Given the description of an element on the screen output the (x, y) to click on. 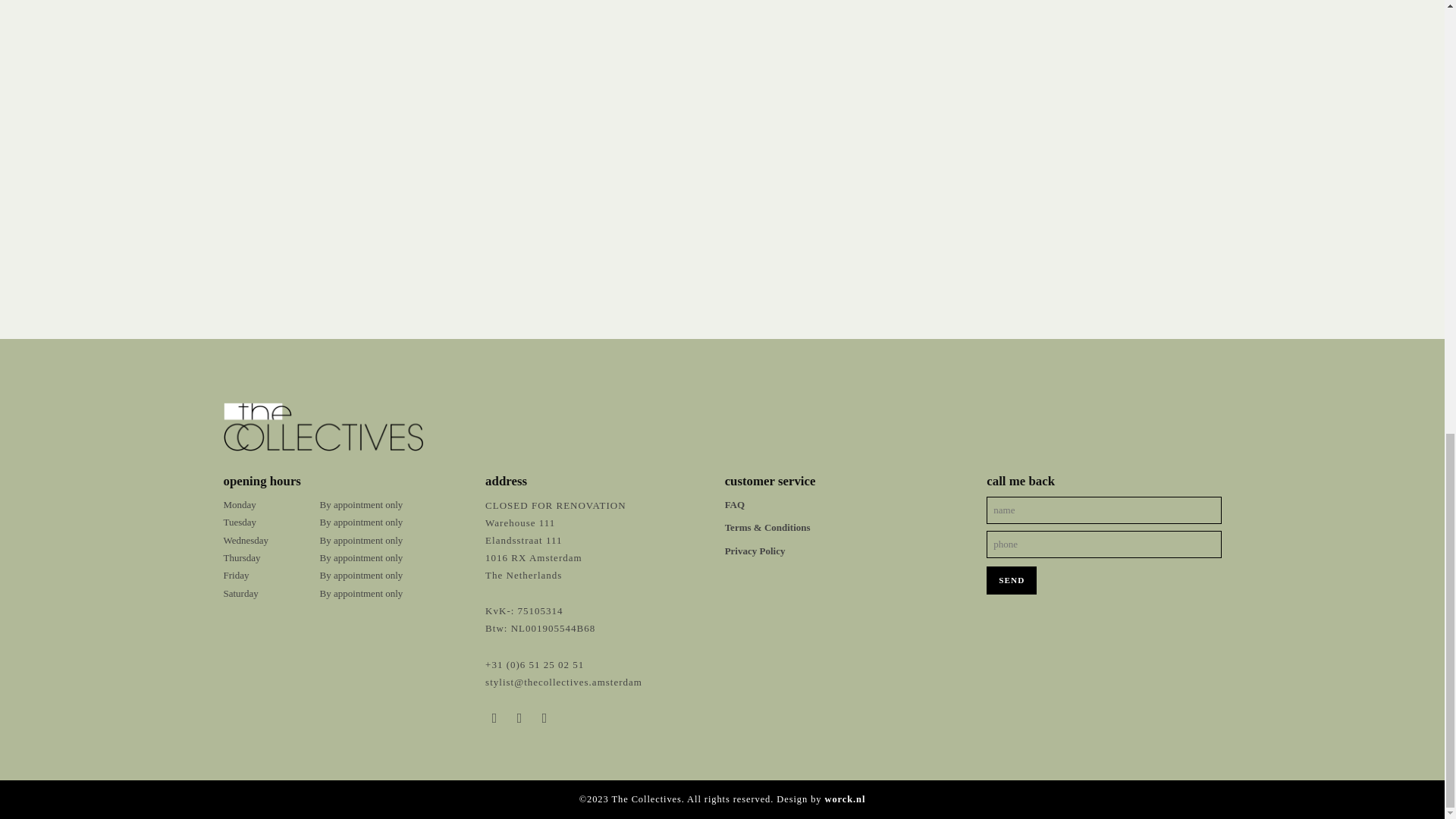
SEND (1011, 580)
